Given the description of an element on the screen output the (x, y) to click on. 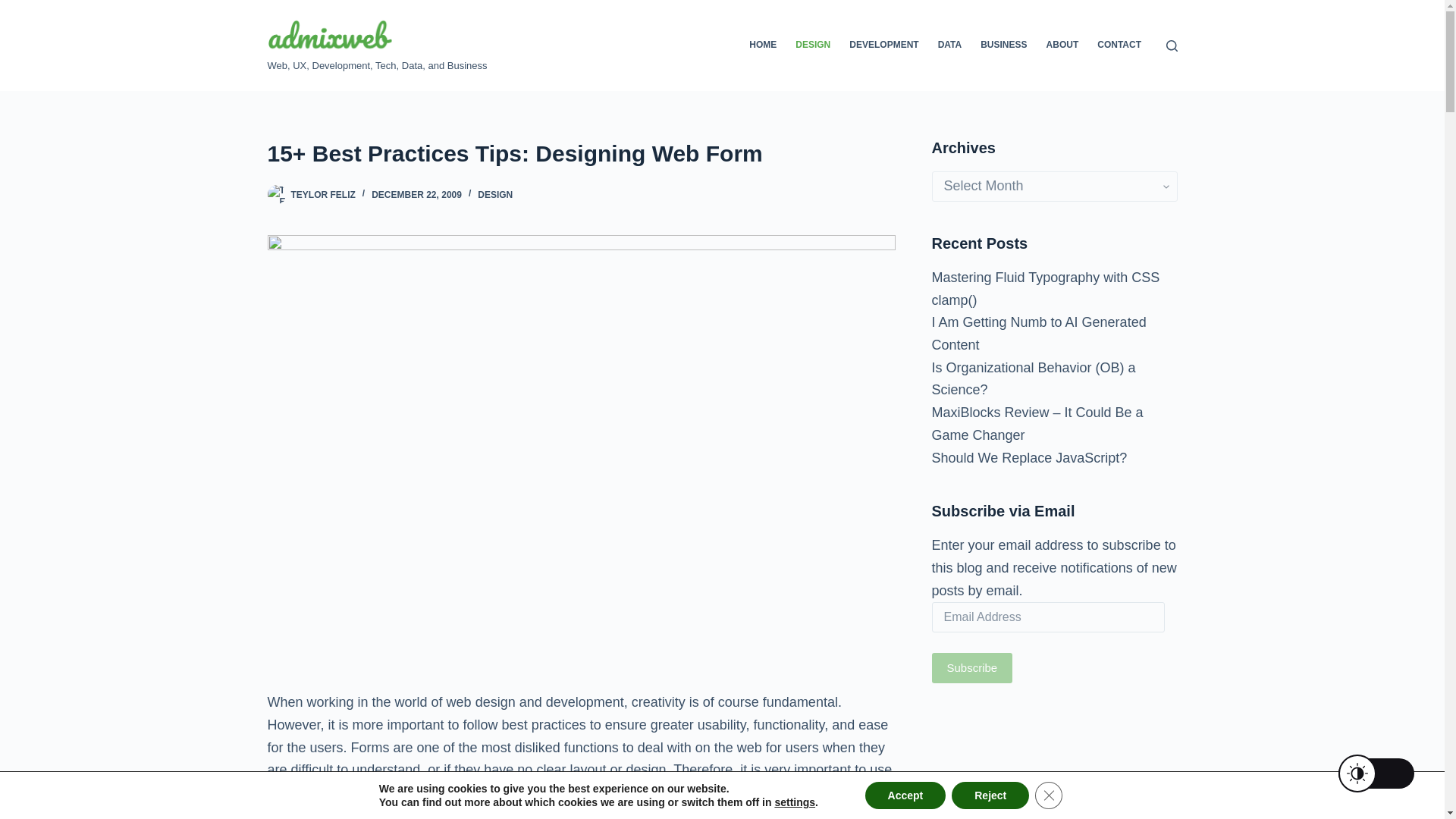
TEYLOR FELIZ (323, 194)
DESIGN (494, 194)
DEVELOPMENT (884, 45)
Skip to content (15, 7)
